Given the description of an element on the screen output the (x, y) to click on. 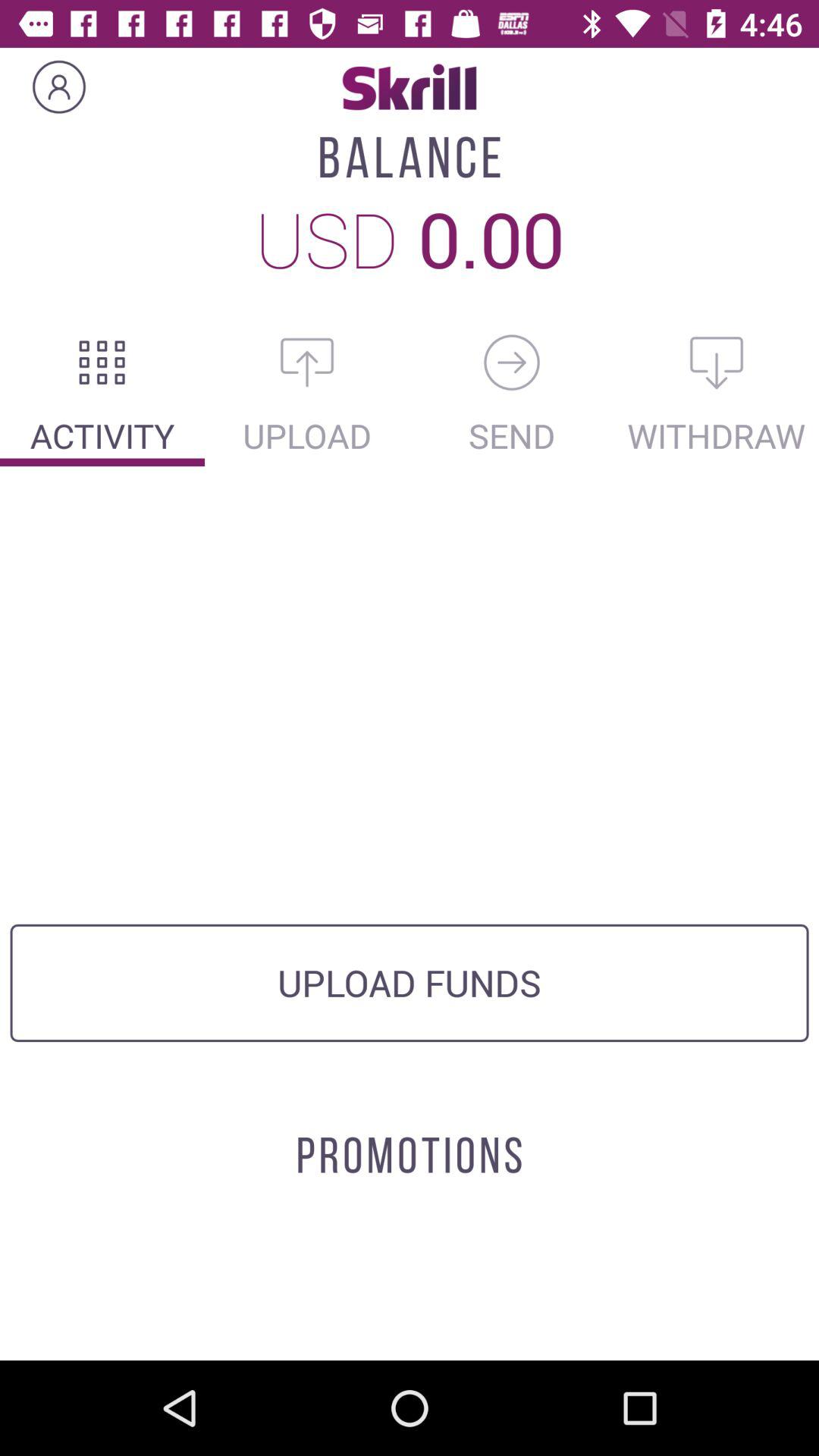
view in table (102, 362)
